Given the description of an element on the screen output the (x, y) to click on. 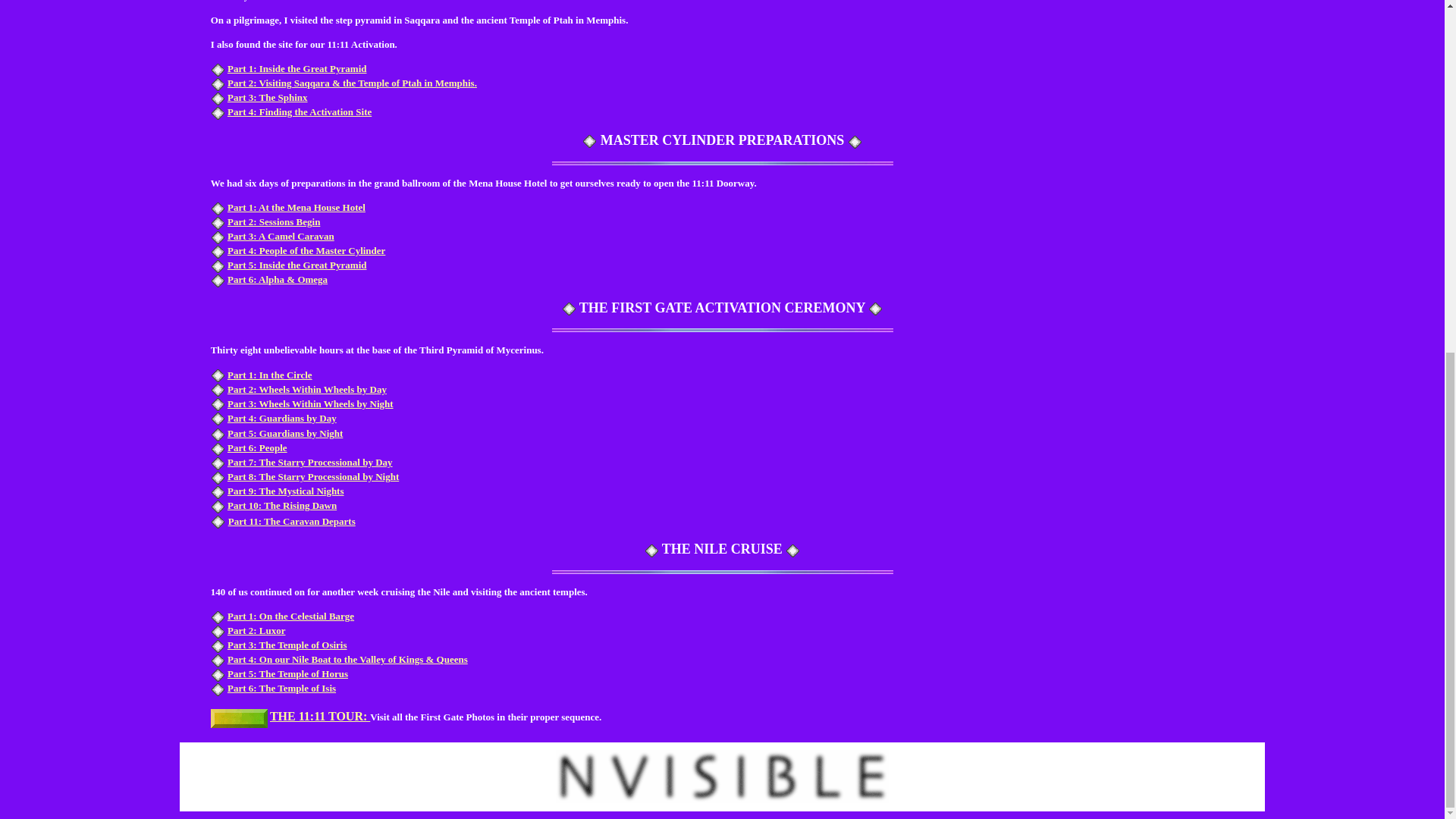
Part 1: At the Mena House Hotel (296, 206)
Part 4: Guardians by Day (281, 418)
Part 4: Finding the Activation Site (299, 111)
Part 11: The Caravan Departs (291, 520)
Part 10: The Rising Dawn (281, 505)
Part 2: Wheels Within Wheels by Day (307, 389)
Part 1: Inside the Great Pyramid (296, 68)
Part 3: A Camel Caravan (280, 235)
Part 9: The Mystical Nights (285, 490)
Part 2: Sessions Begin (273, 221)
Part 1: In the Circle (270, 374)
Part 6: People (256, 447)
THE 11:11 TOUR: (319, 716)
Part 5: Guardians by Night (284, 432)
Part 6: The Temple of Isis (281, 687)
